Given the description of an element on the screen output the (x, y) to click on. 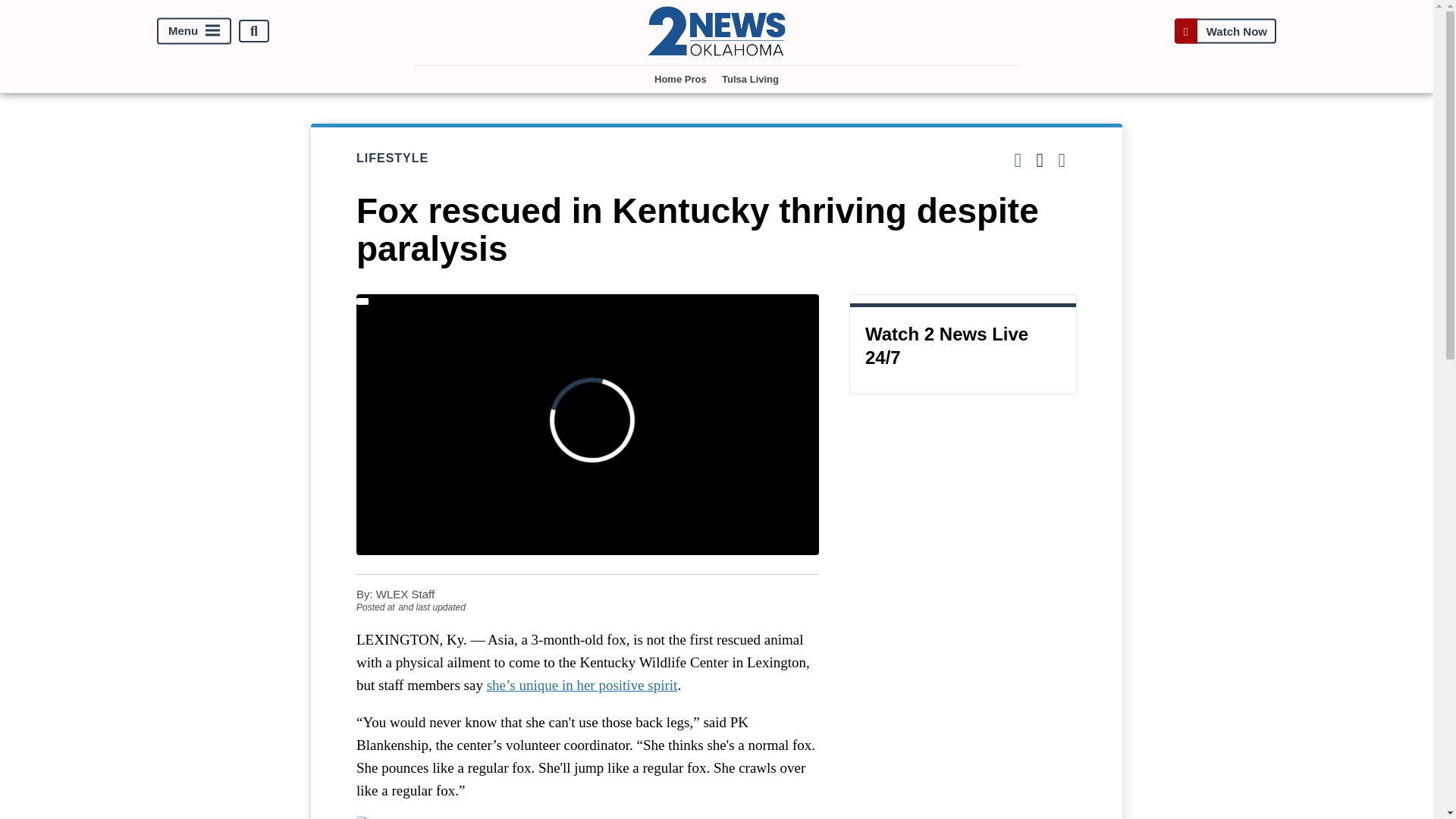
Menu (194, 31)
Watch Now (1224, 31)
